Given the description of an element on the screen output the (x, y) to click on. 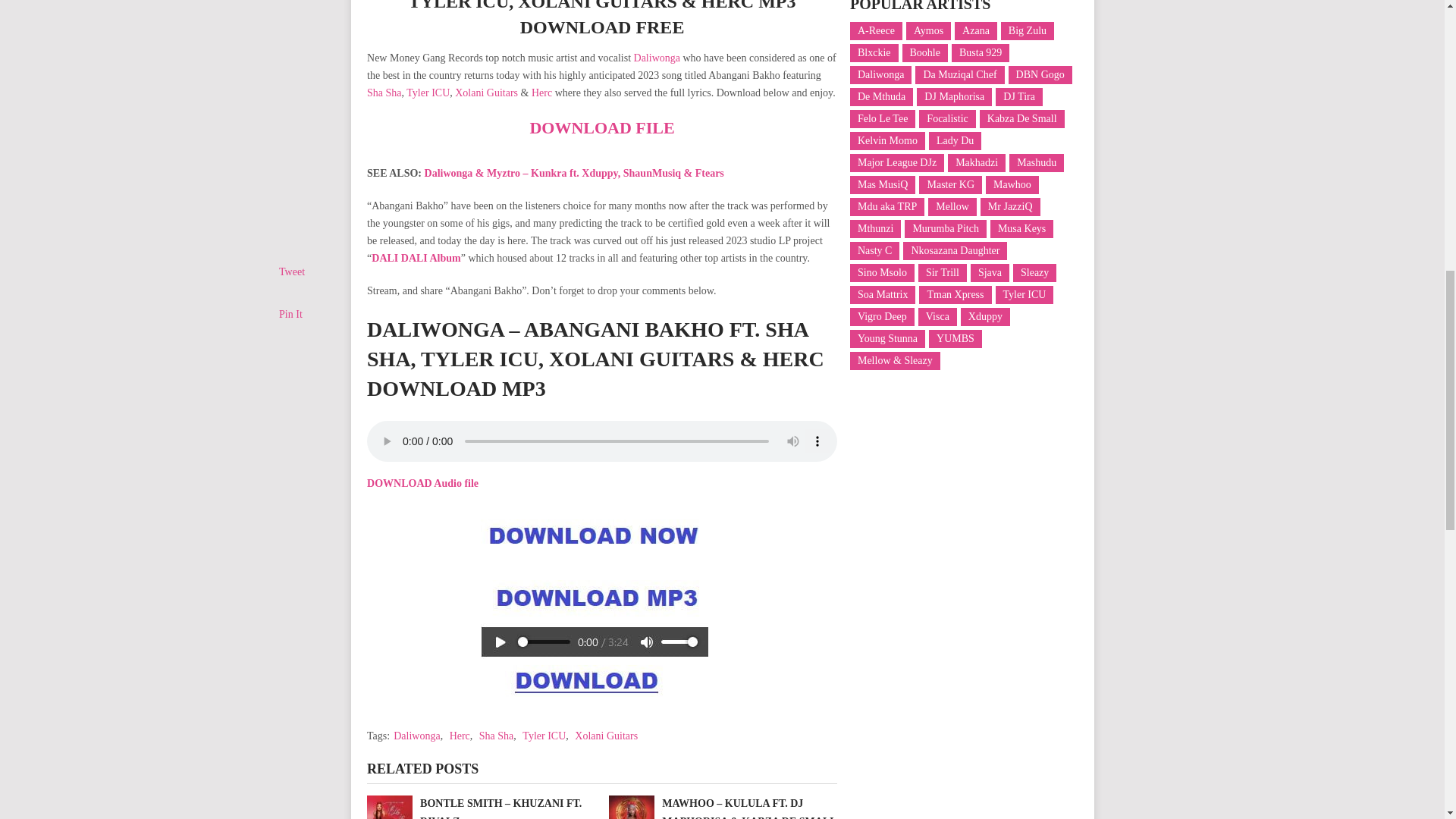
DOWNLOAD FILE (601, 127)
Daliwonga (416, 736)
Xolani Guitars (486, 92)
DOWNLOAD Audio file (422, 482)
Herc (459, 736)
DALI DALI Album (415, 257)
Sha Sha (383, 92)
Daliwonga (656, 57)
Herc (541, 92)
Tyler ICU (427, 92)
